Given the description of an element on the screen output the (x, y) to click on. 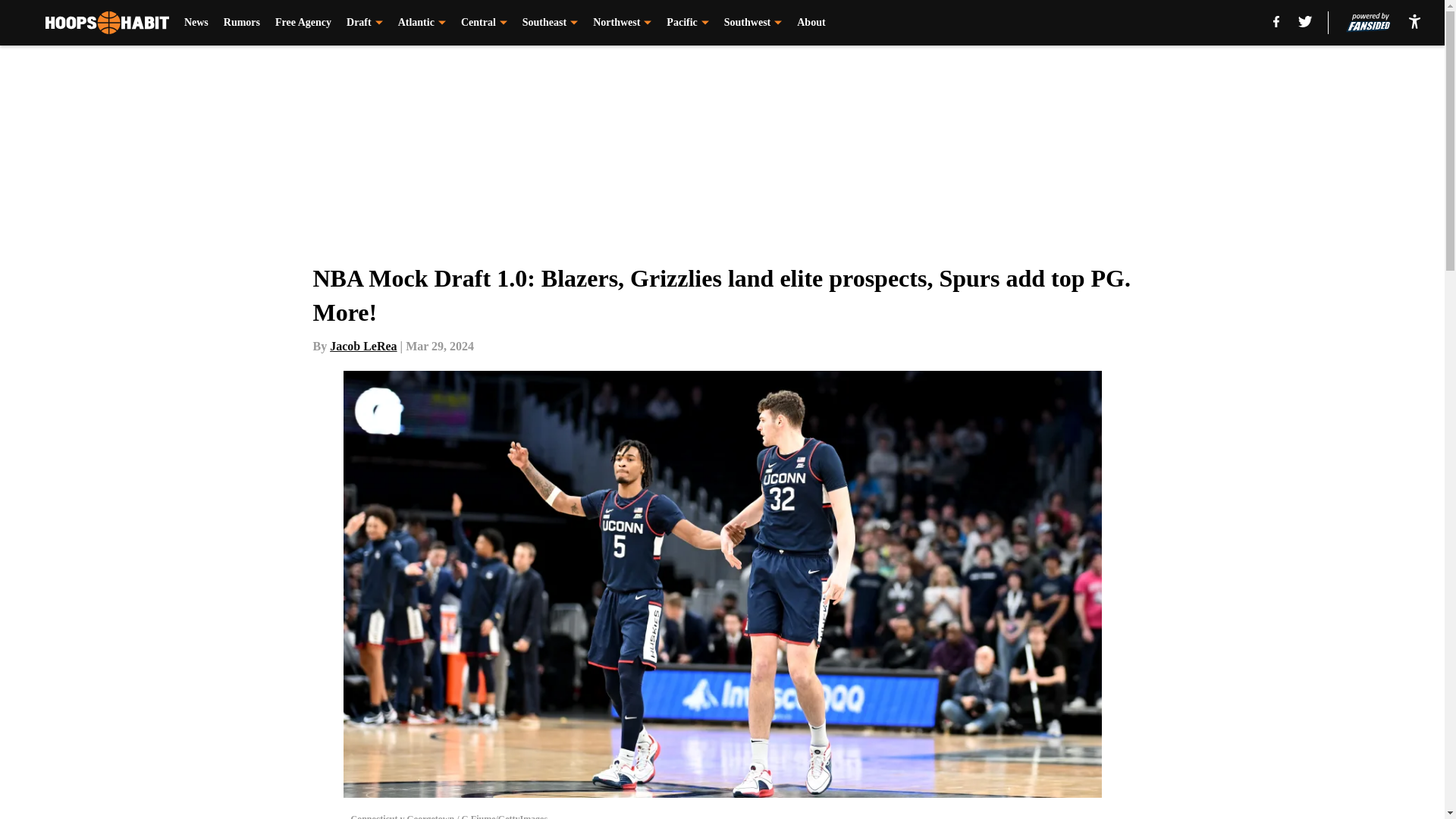
Draft (364, 22)
Free Agency (303, 22)
Rumors (242, 22)
Atlantic (421, 22)
Northwest (621, 22)
Central (483, 22)
News (196, 22)
Southeast (550, 22)
